Given the description of an element on the screen output the (x, y) to click on. 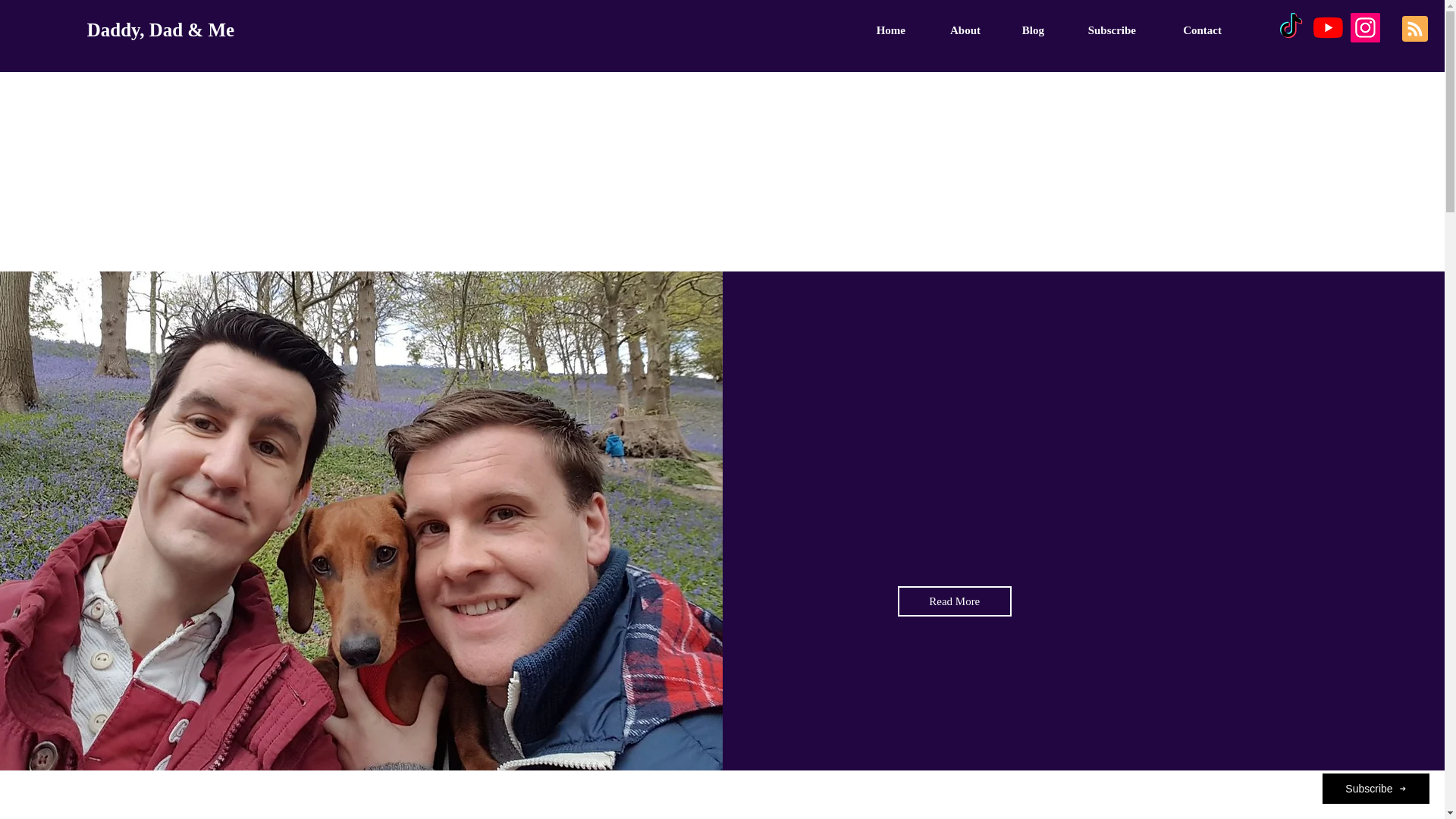
Subscribe (1096, 30)
Home (876, 30)
Contact (1185, 30)
Read More (954, 601)
About (950, 30)
Blog (1019, 30)
